Given the description of an element on the screen output the (x, y) to click on. 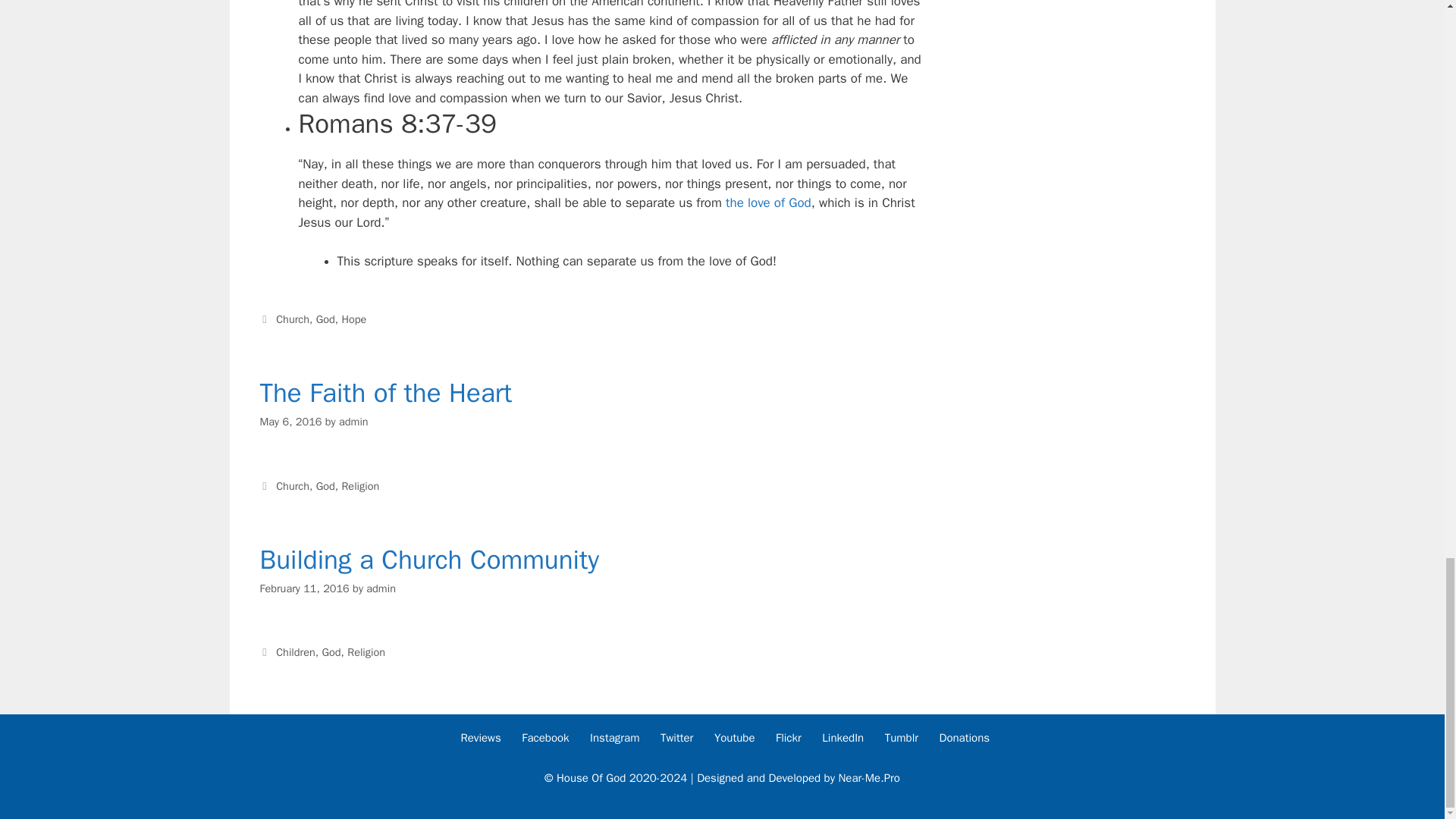
View all posts by admin (381, 588)
View all posts by admin (353, 421)
Ministerios La Casa De Dios (730, 737)
